Given the description of an element on the screen output the (x, y) to click on. 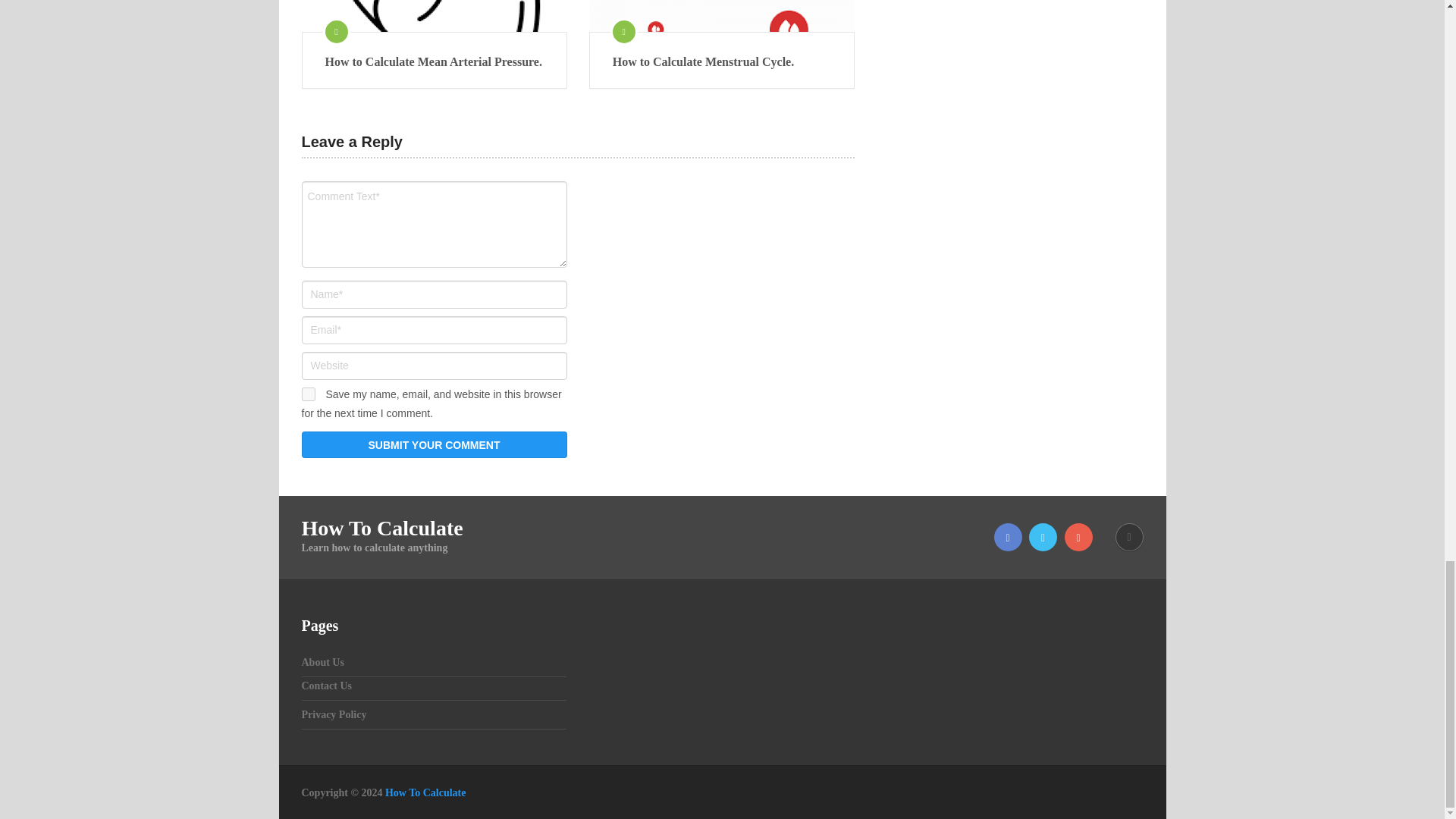
Privacy Policy (333, 713)
How to Calculate Mean Arterial Pressure. (434, 15)
Submit Your Comment (434, 443)
Submit Your Comment (434, 443)
 Learn how to calculate anything (425, 792)
How To Calculate (425, 792)
How to Calculate Menstrual Cycle. (721, 15)
Contact Us (326, 685)
How to Calculate Mean Arterial Pressure. (433, 62)
How to Calculate Menstrual Cycle. (721, 62)
